Given the description of an element on the screen output the (x, y) to click on. 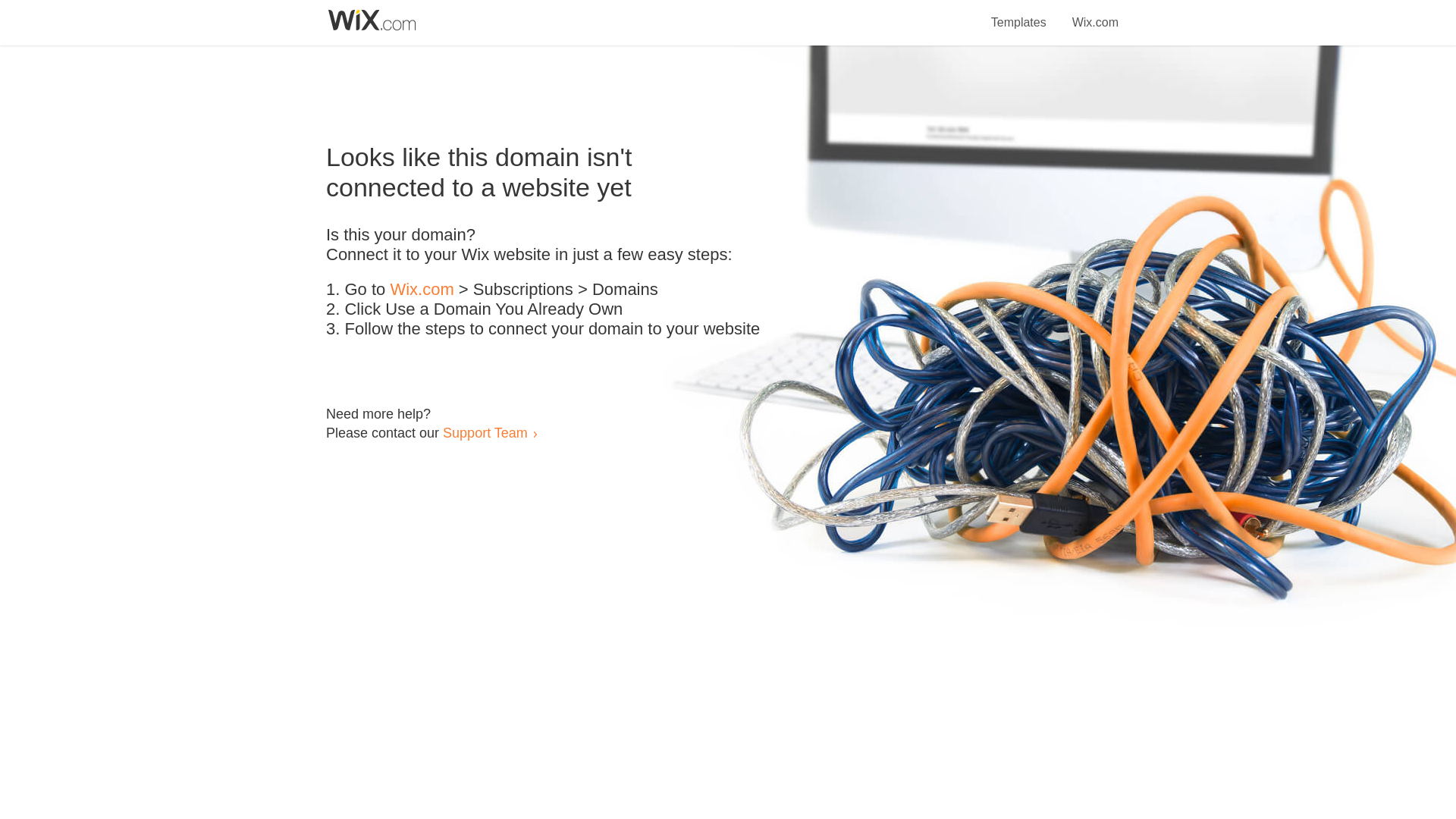
Support Team (484, 432)
Templates (1018, 14)
Wix.com (421, 289)
Wix.com (1095, 14)
